Given the description of an element on the screen output the (x, y) to click on. 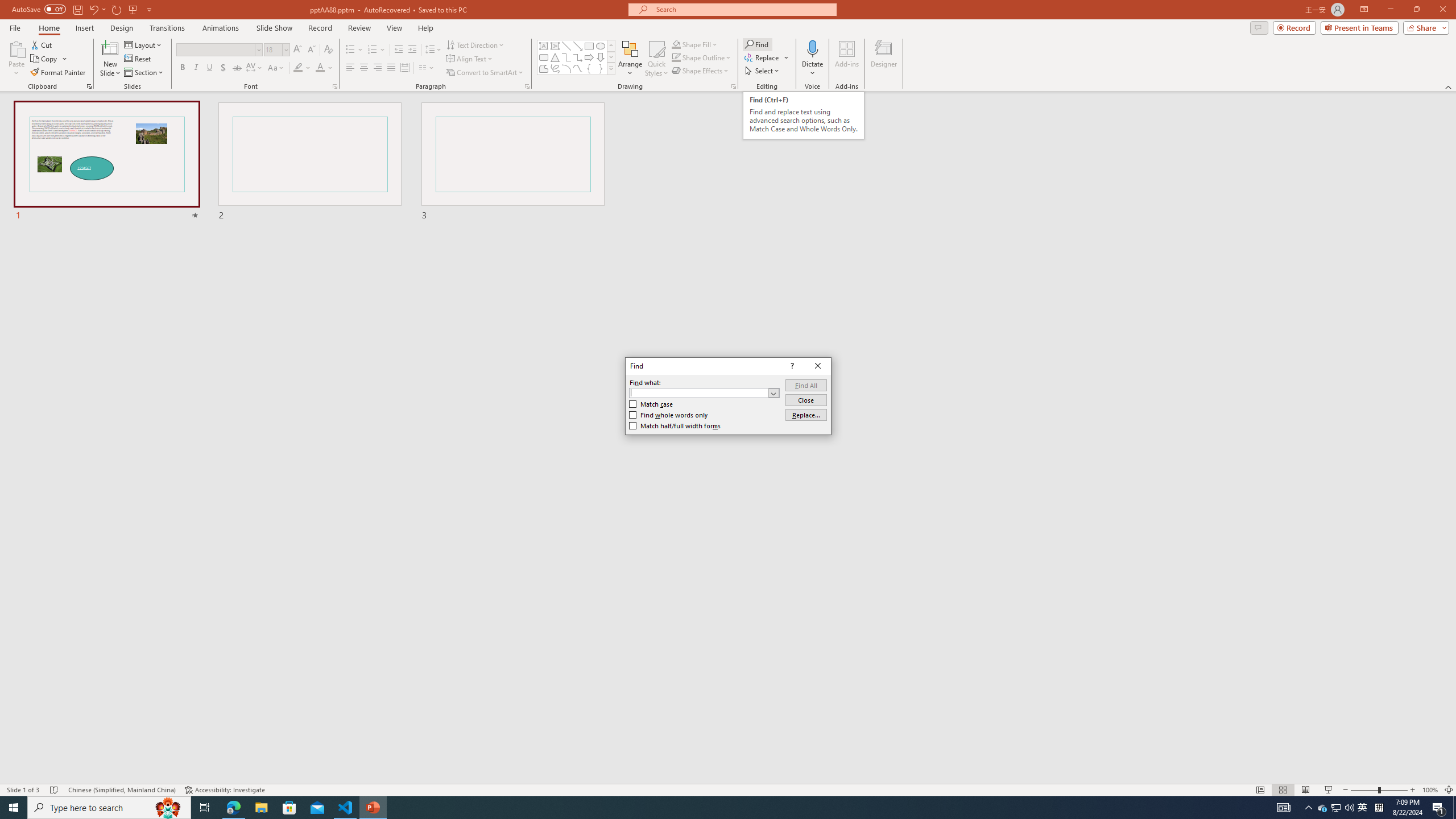
Find what (698, 392)
Zoom 100% (1430, 790)
